Given the description of an element on the screen output the (x, y) to click on. 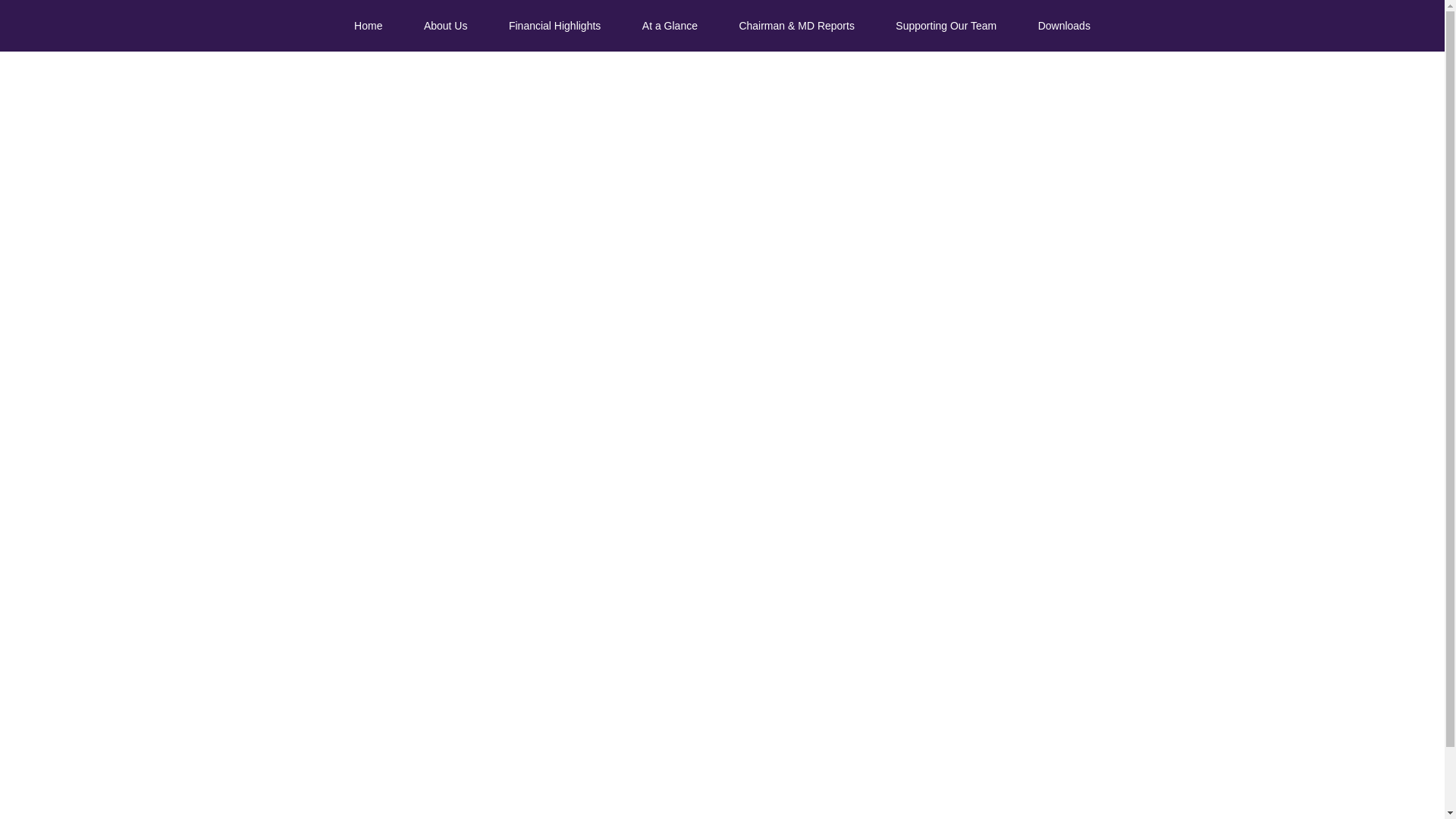
Financial Highlights (554, 25)
About Us (445, 25)
Home (367, 25)
Downloads (1064, 25)
Supporting Our Team (945, 25)
At a Glance (669, 25)
